Given the description of an element on the screen output the (x, y) to click on. 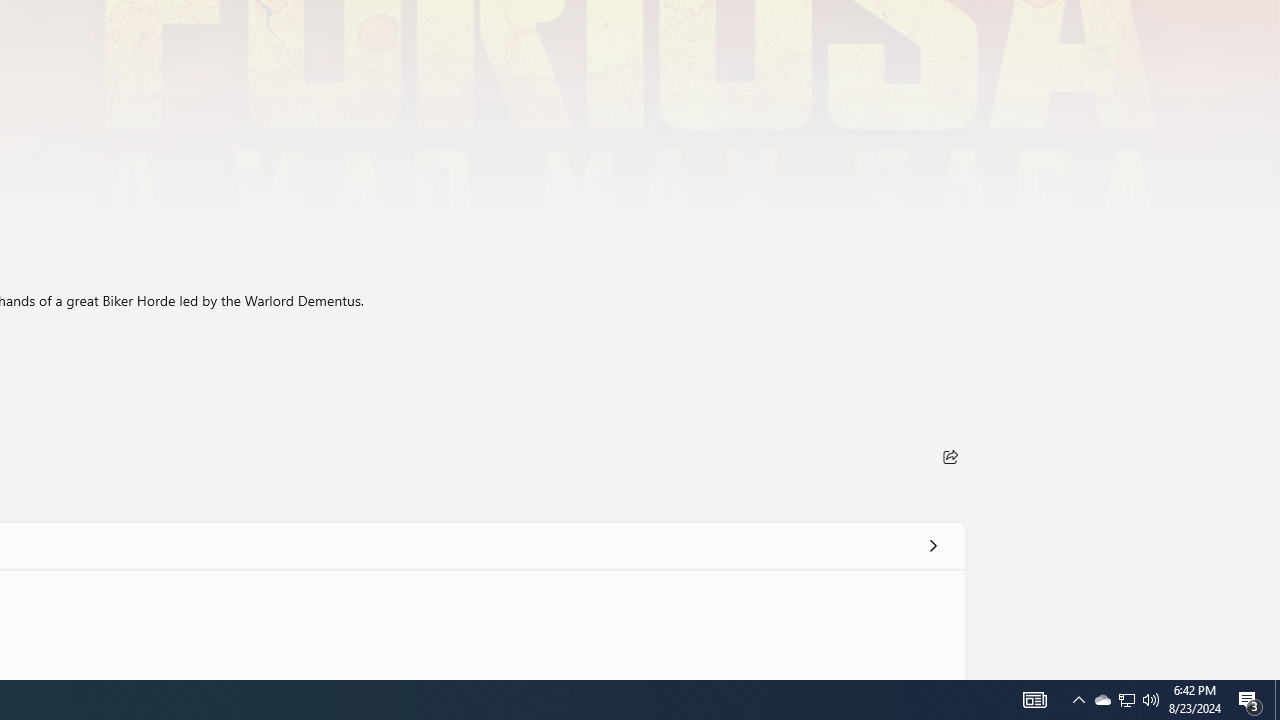
See all (932, 544)
Share (950, 456)
